Given the description of an element on the screen output the (x, y) to click on. 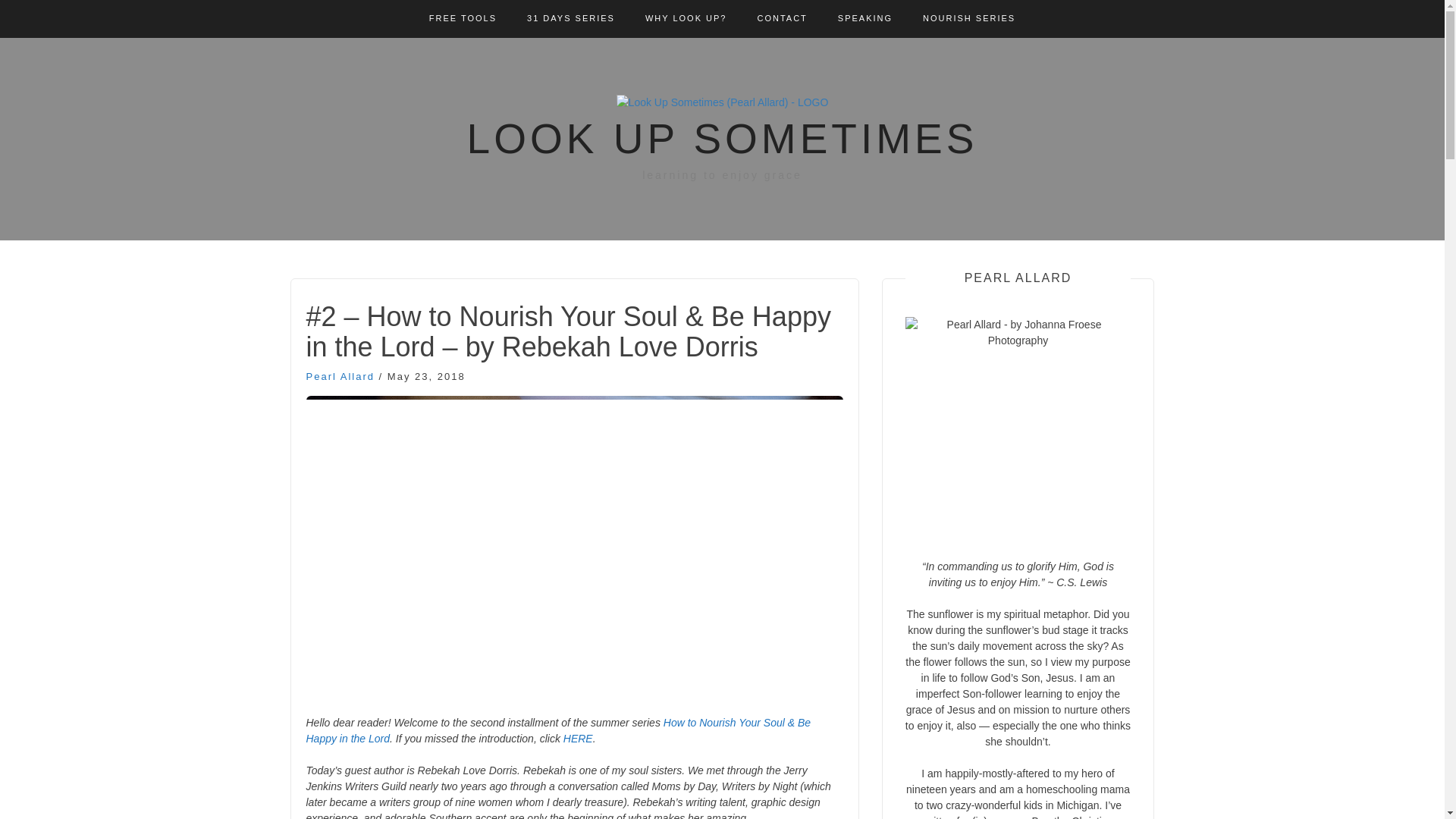
31 DAYS SERIES (570, 18)
FREE TOOLS (462, 18)
WHY LOOK UP? (685, 18)
Pearl Allard (339, 376)
NOURISH SERIES (968, 18)
LOOK UP SOMETIMES (722, 138)
CONTACT (781, 18)
HERE (577, 738)
SPEAKING (865, 18)
